Given the description of an element on the screen output the (x, y) to click on. 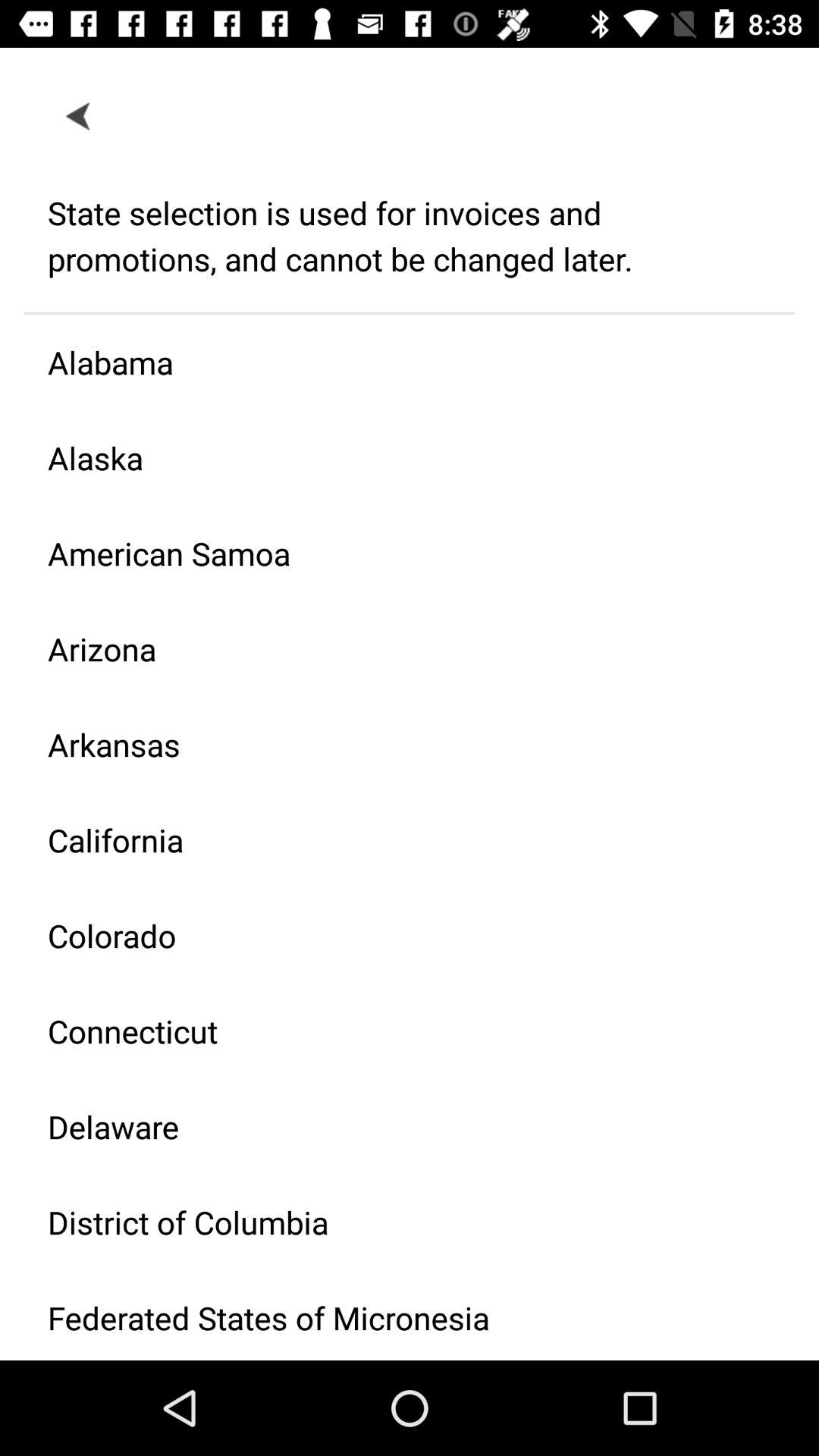
click item below the arkansas icon (397, 839)
